Given the description of an element on the screen output the (x, y) to click on. 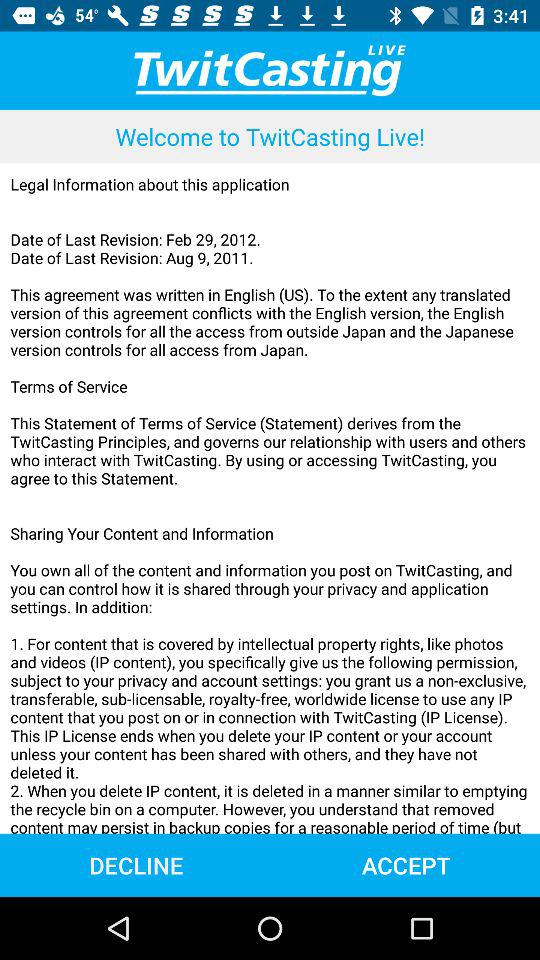
tap the icon to the left of the accept (136, 864)
